Given the description of an element on the screen output the (x, y) to click on. 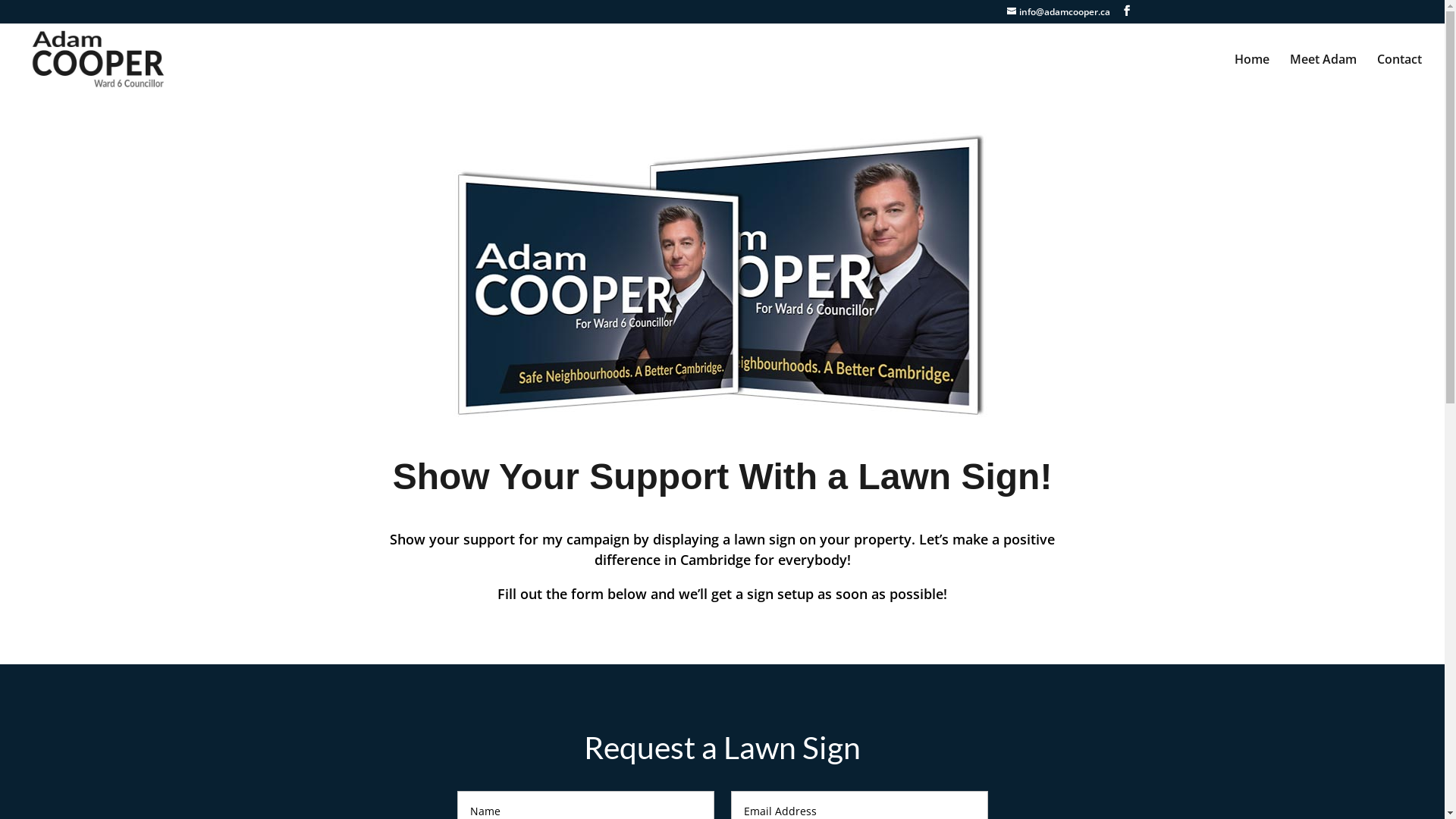
Meet Adam Element type: text (1322, 73)
Home Element type: text (1251, 73)
Contact Element type: text (1399, 73)
info@adamcooper.ca Element type: text (1058, 11)
Adam Cooper - Cambridge Ward 6 Candidate Element type: hover (722, 274)
